Given the description of an element on the screen output the (x, y) to click on. 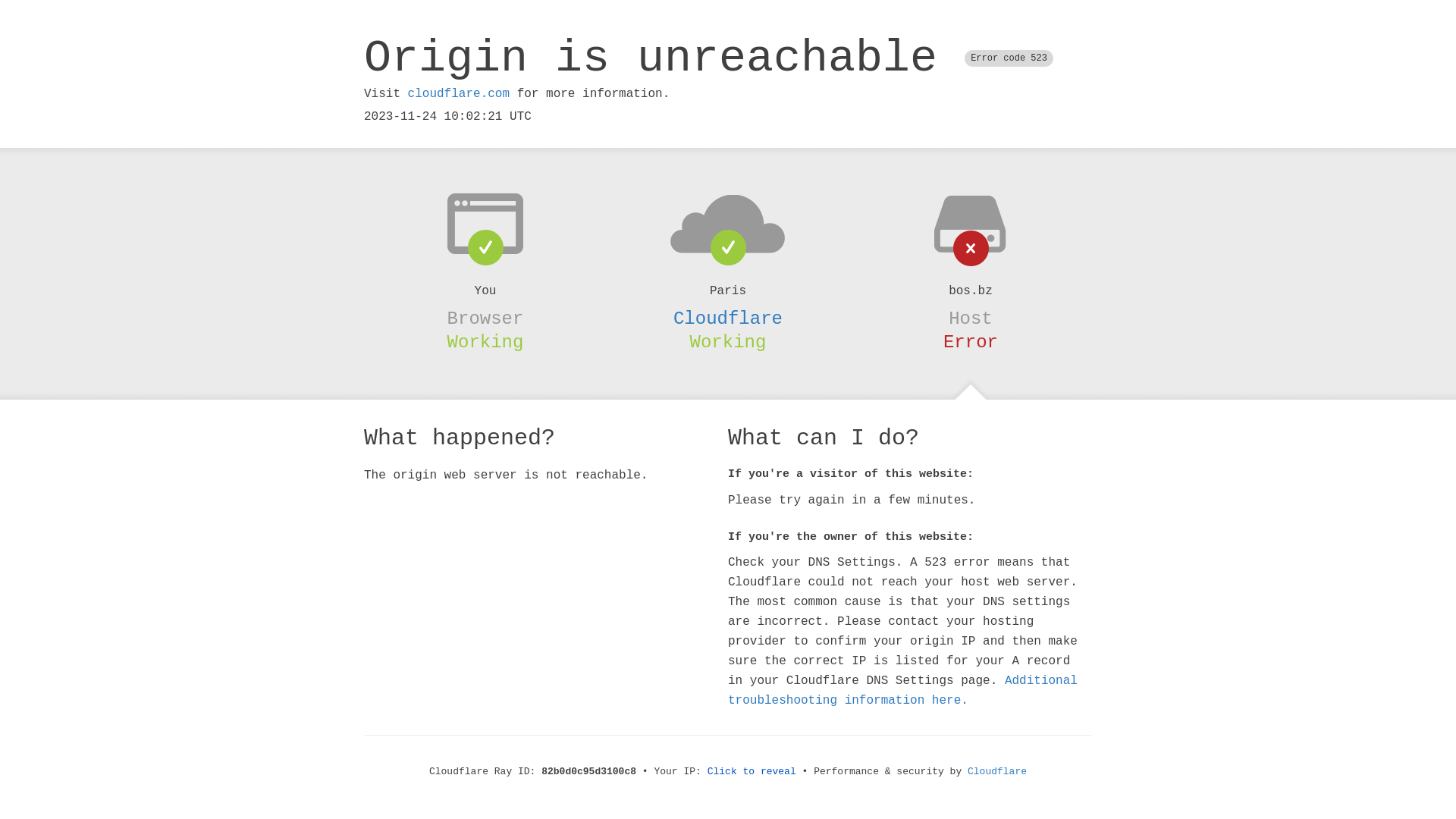
Click to reveal Element type: text (751, 771)
cloudflare.com Element type: text (458, 93)
Additional troubleshooting information here. Element type: text (902, 690)
Cloudflare Element type: text (996, 771)
Cloudflare Element type: text (727, 318)
